Given the description of an element on the screen output the (x, y) to click on. 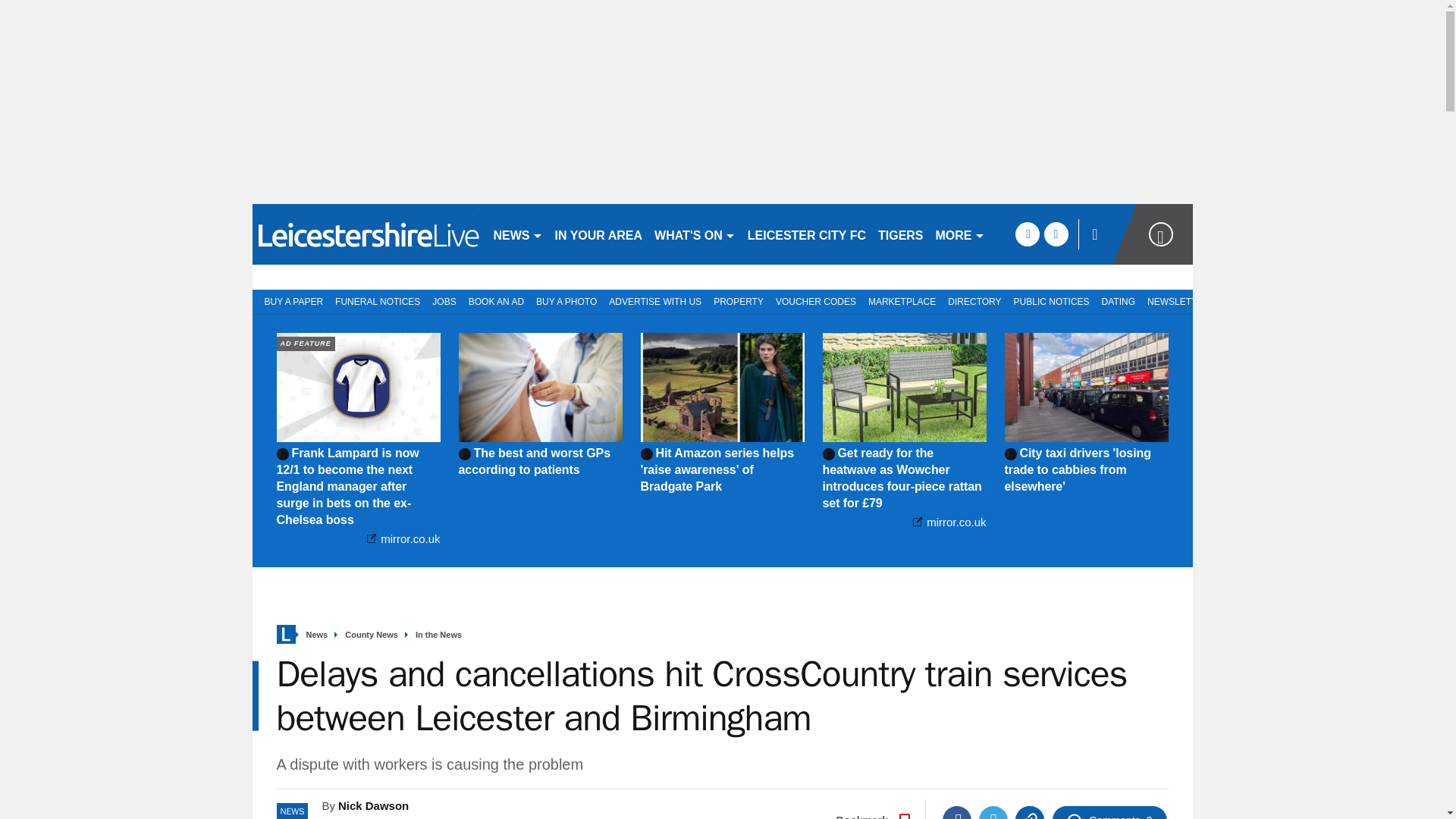
twitter (1055, 233)
Facebook (956, 812)
TIGERS (901, 233)
WHAT'S ON (694, 233)
NEWS (517, 233)
Comments (1108, 812)
leicestermercury (365, 233)
Twitter (992, 812)
MORE (960, 233)
LEICESTER CITY FC (806, 233)
IN YOUR AREA (598, 233)
facebook (1026, 233)
